Given the description of an element on the screen output the (x, y) to click on. 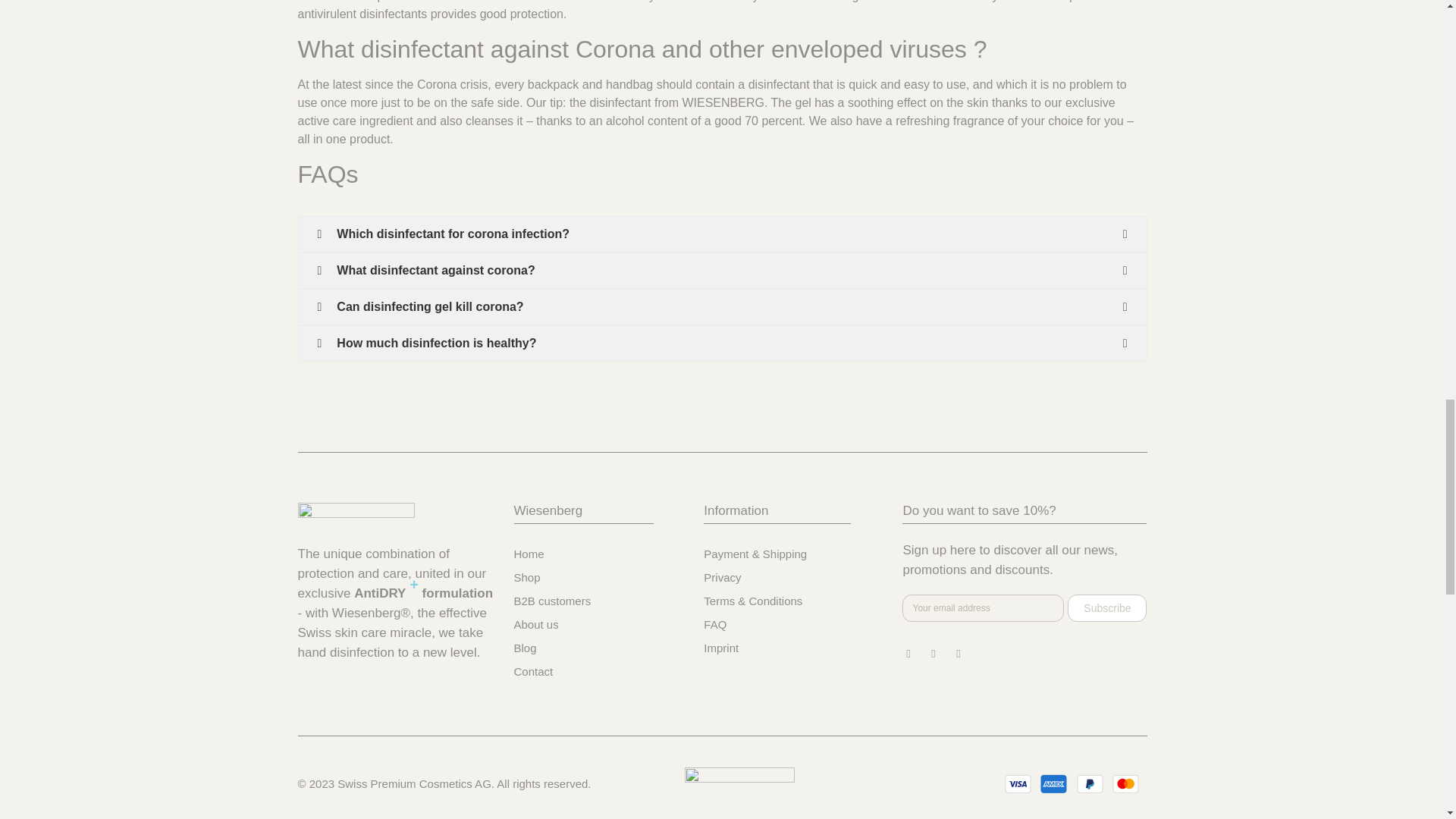
Shop (600, 578)
Blog (600, 648)
Home (600, 554)
B2B customers (600, 600)
About us (600, 624)
Contact (600, 671)
